Given the description of an element on the screen output the (x, y) to click on. 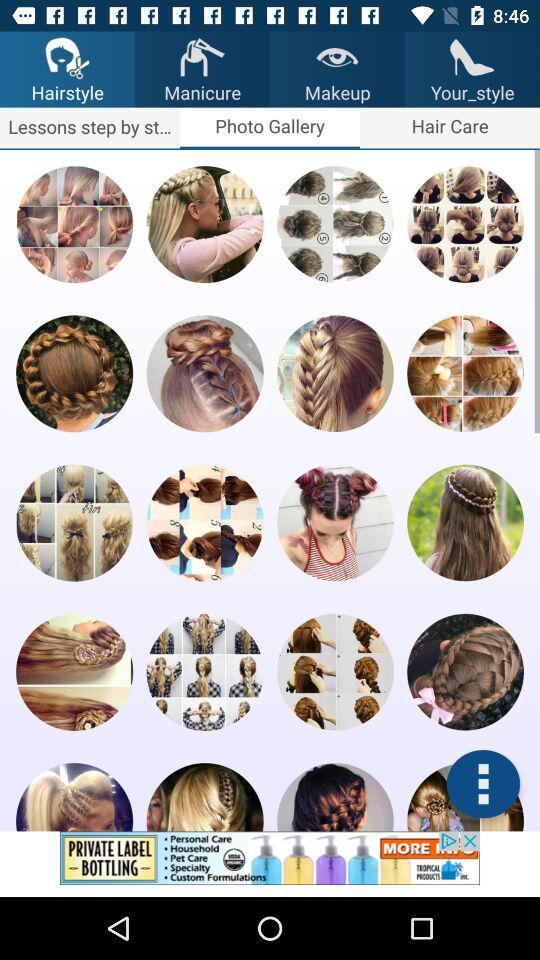
select image (204, 522)
